Given the description of an element on the screen output the (x, y) to click on. 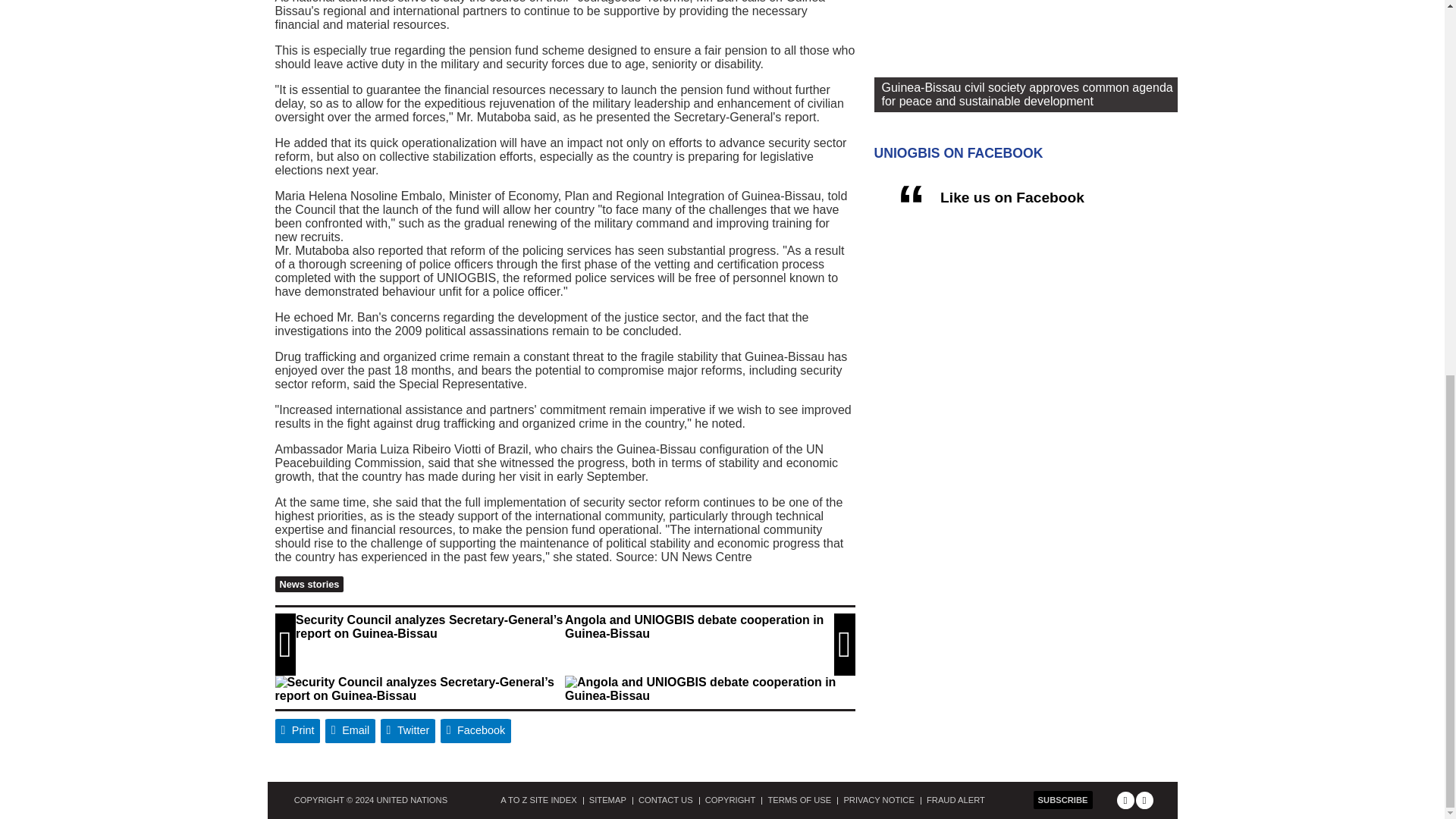
Angola and UNIOGBIS debate cooperation in Guinea-Bissau  (706, 688)
Print (297, 730)
Facebook (476, 730)
Twitter (407, 730)
Email (349, 730)
